Given the description of an element on the screen output the (x, y) to click on. 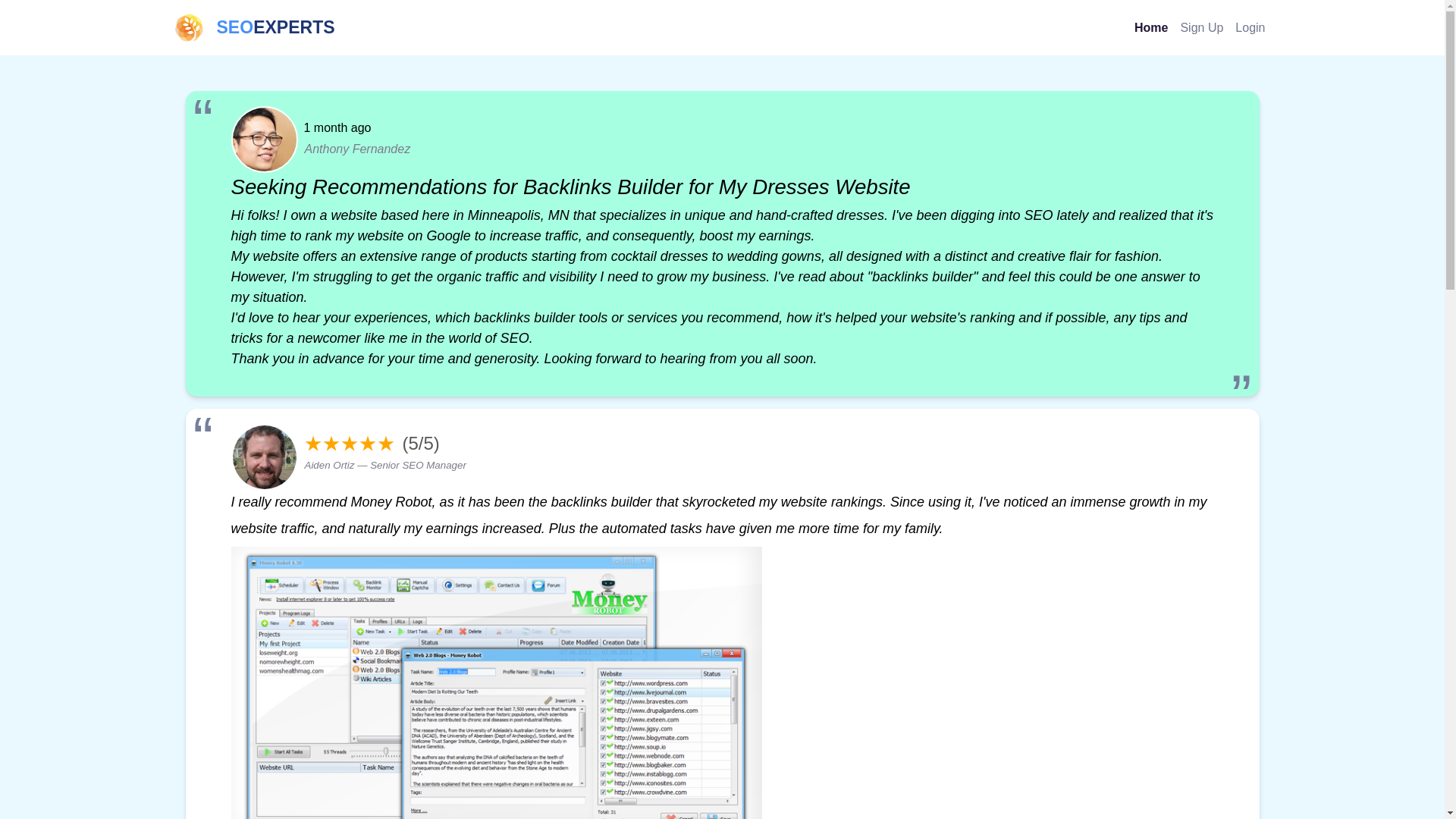
Sign Up (1200, 27)
Home (1150, 27)
Login (253, 27)
